Given the description of an element on the screen output the (x, y) to click on. 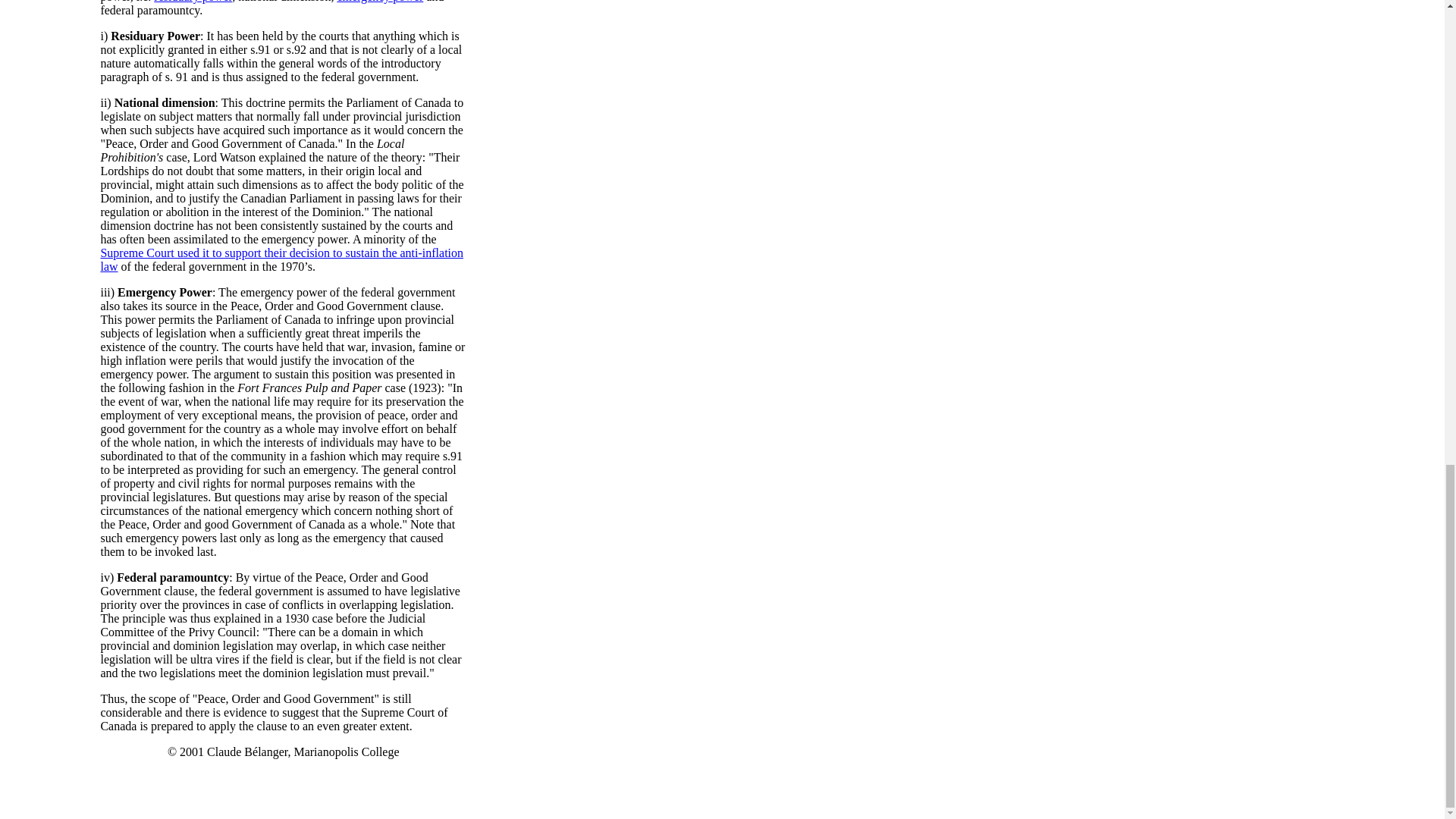
emergency power (379, 1)
residuary power (192, 1)
